Given the description of an element on the screen output the (x, y) to click on. 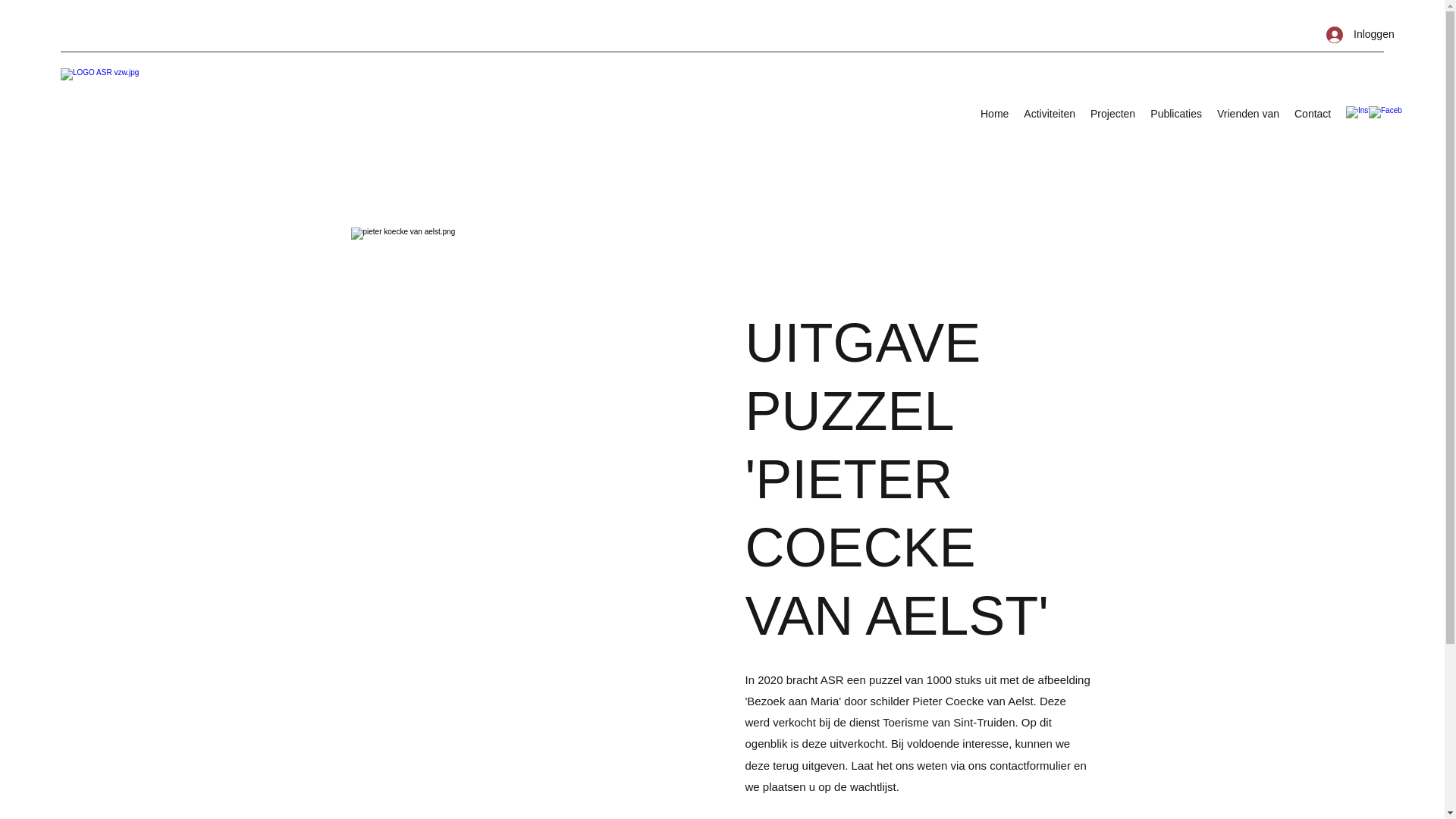
Publicaties Element type: text (1175, 113)
Inloggen Element type: text (1349, 34)
Vrienden van Element type: text (1247, 113)
Contact Element type: text (1312, 113)
Projecten Element type: text (1112, 113)
Home Element type: text (994, 113)
Activiteiten Element type: text (1049, 113)
